Given the description of an element on the screen output the (x, y) to click on. 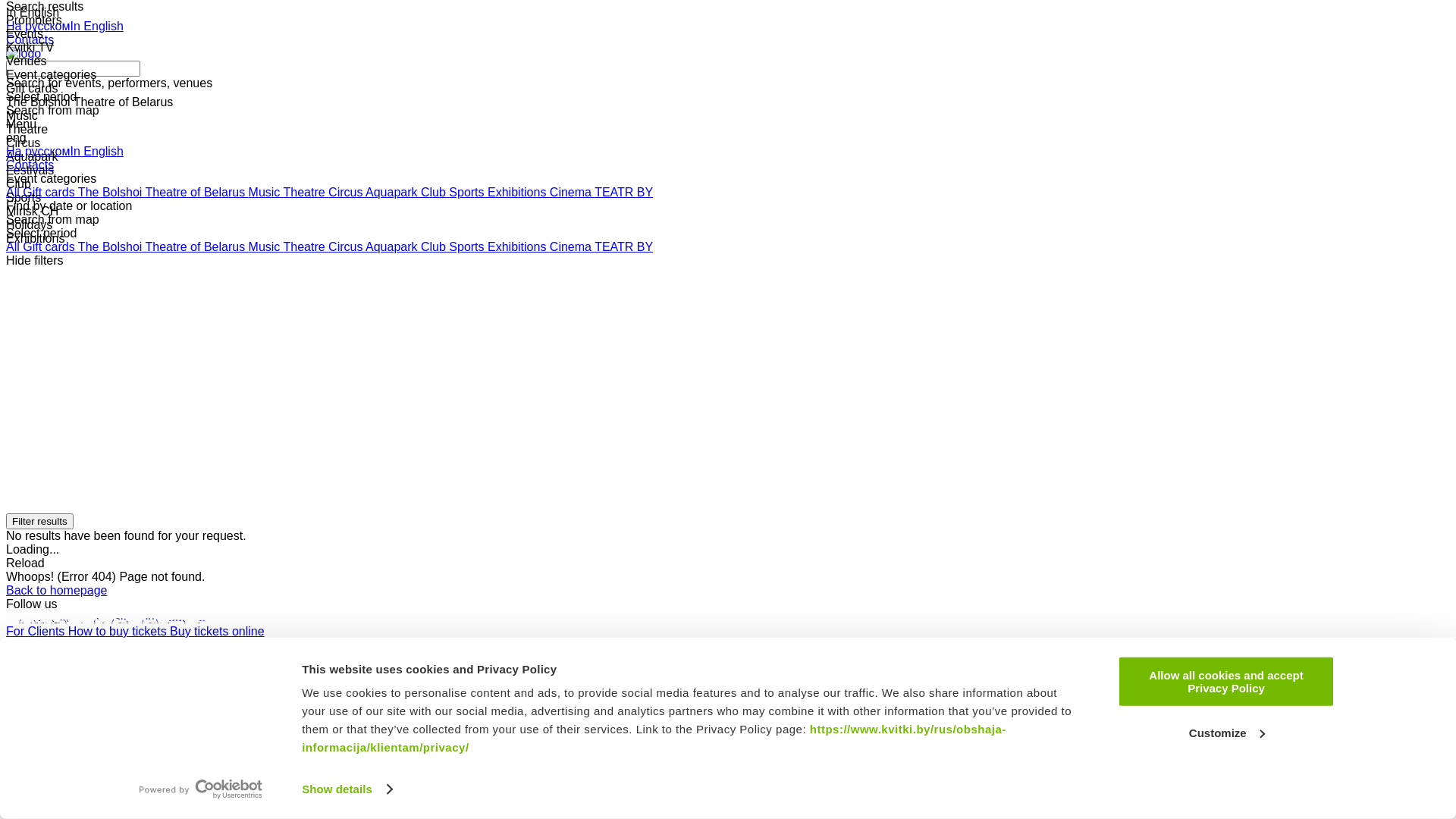
Youtube Element type: text (183, 617)
Theatre Element type: text (306, 191)
TEATR BY Element type: text (623, 191)
Theatre Element type: text (306, 246)
Buy tickets online Element type: text (216, 630)
Sports Element type: text (467, 191)
How to buy tickets Element type: text (118, 630)
Gift cards Element type: text (50, 246)
Exhibitions Element type: text (518, 246)
About company Element type: text (50, 658)
Circus Element type: text (346, 246)
Allow all cookies and accept Privacy Policy Element type: text (1225, 681)
Sports Element type: text (467, 246)
Club Element type: text (434, 191)
Instagram Element type: text (132, 617)
TEATR BY Element type: text (623, 246)
FB Element type: text (15, 617)
Search from map Element type: text (52, 109)
Search from map Element type: text (52, 219)
For Clients Element type: text (37, 630)
VK Element type: text (34, 617)
Contacts Element type: text (29, 39)
The Bolshoi Theatre of Belarus Element type: text (163, 191)
Show details Element type: text (346, 789)
Music Element type: text (265, 191)
All Element type: text (14, 246)
Filter results Element type: text (39, 521)
Gift cards Element type: text (50, 191)
Cinema Element type: text (571, 191)
In English Element type: text (96, 25)
Twitter Element type: text (63, 617)
Aquapark Element type: text (392, 246)
Music Element type: text (265, 246)
Contacts Element type: text (117, 658)
Exhibitions Element type: text (518, 191)
Organizers Element type: text (37, 644)
In English Element type: text (96, 150)
Customize Element type: text (1225, 731)
Club Element type: text (434, 246)
Back to homepage Element type: text (56, 589)
General information Element type: text (122, 644)
All Element type: text (14, 191)
Personal data processing policy Element type: text (91, 699)
Contacts Element type: text (29, 164)
Cinema Element type: text (571, 246)
Aquapark Element type: text (392, 191)
Circus Element type: text (346, 191)
The Bolshoi Theatre of Belarus Element type: text (163, 246)
OK Element type: text (93, 617)
